Given the description of an element on the screen output the (x, y) to click on. 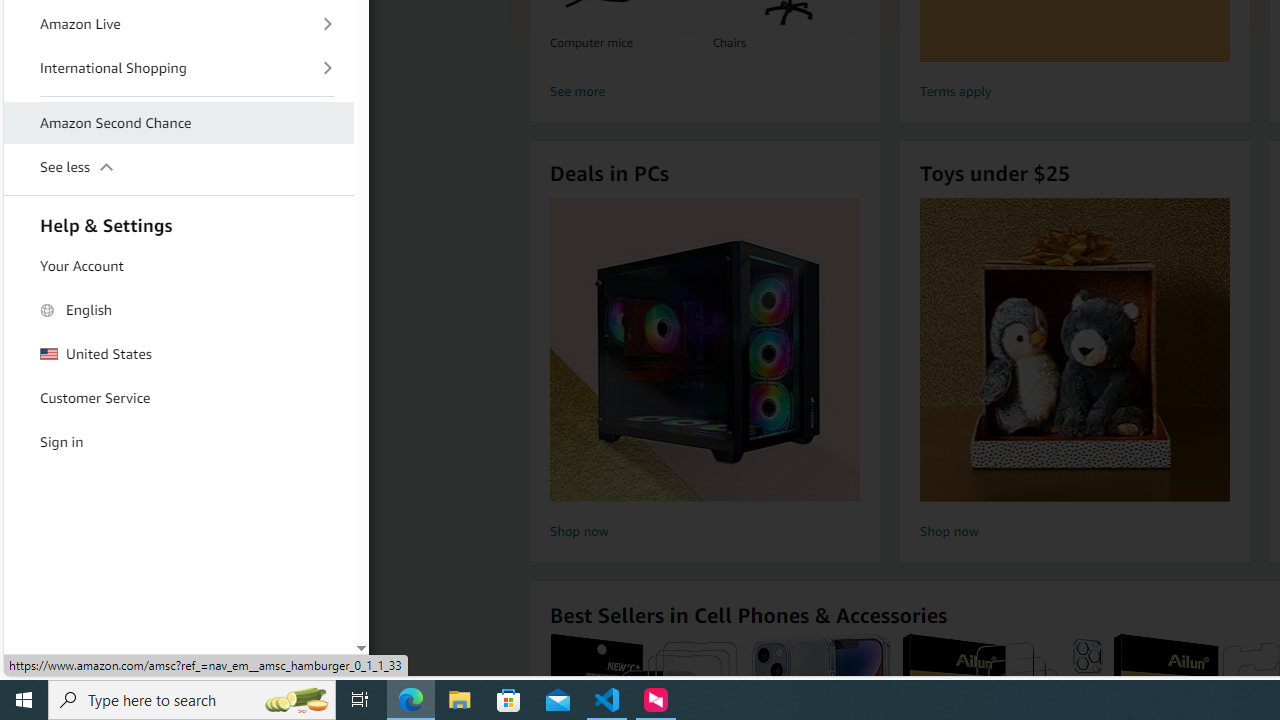
Help & Settings (178, 222)
Amazon Live (178, 23)
Your Account (178, 266)
